Given the description of an element on the screen output the (x, y) to click on. 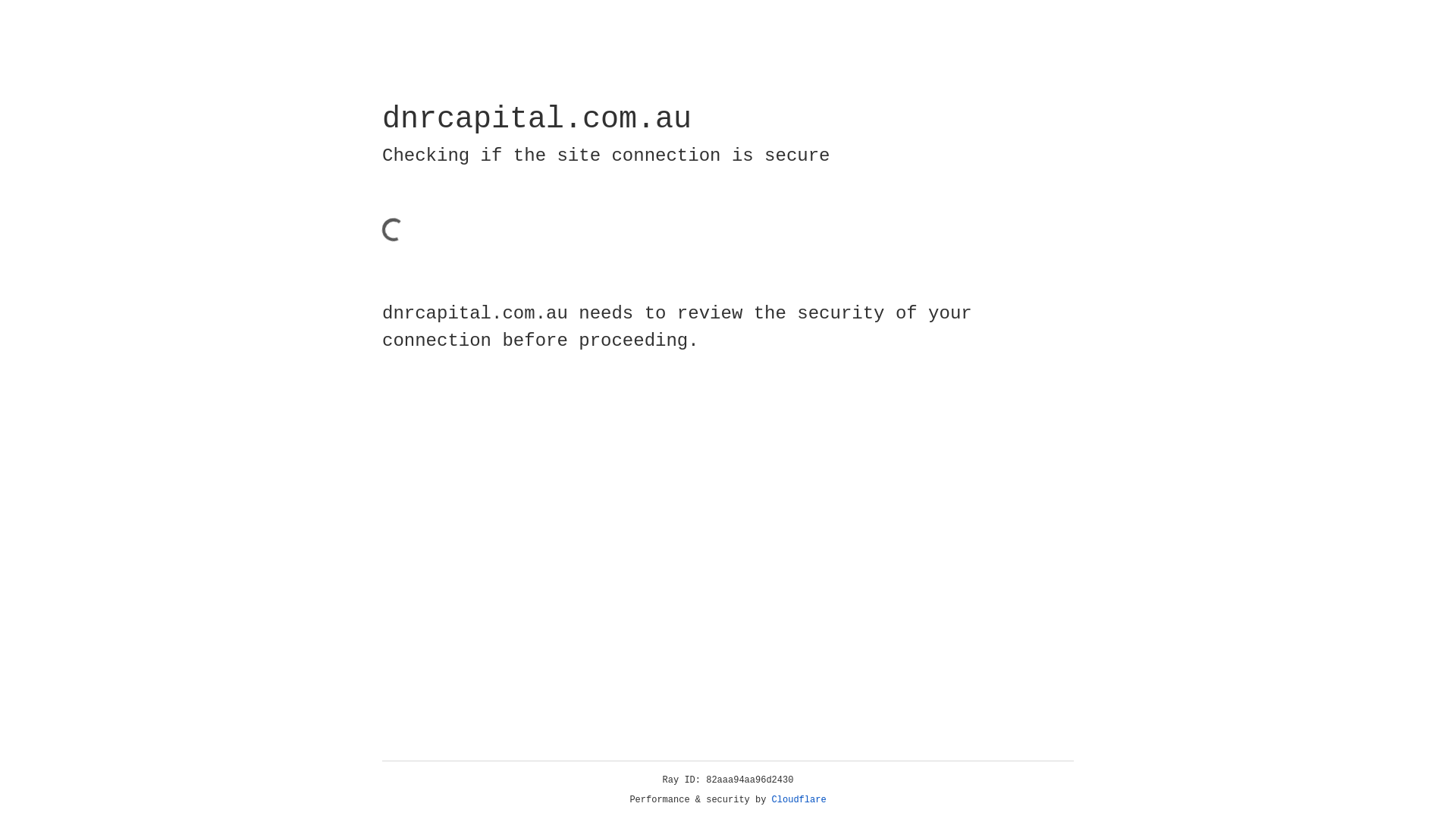
Cloudflare Element type: text (798, 799)
